Given the description of an element on the screen output the (x, y) to click on. 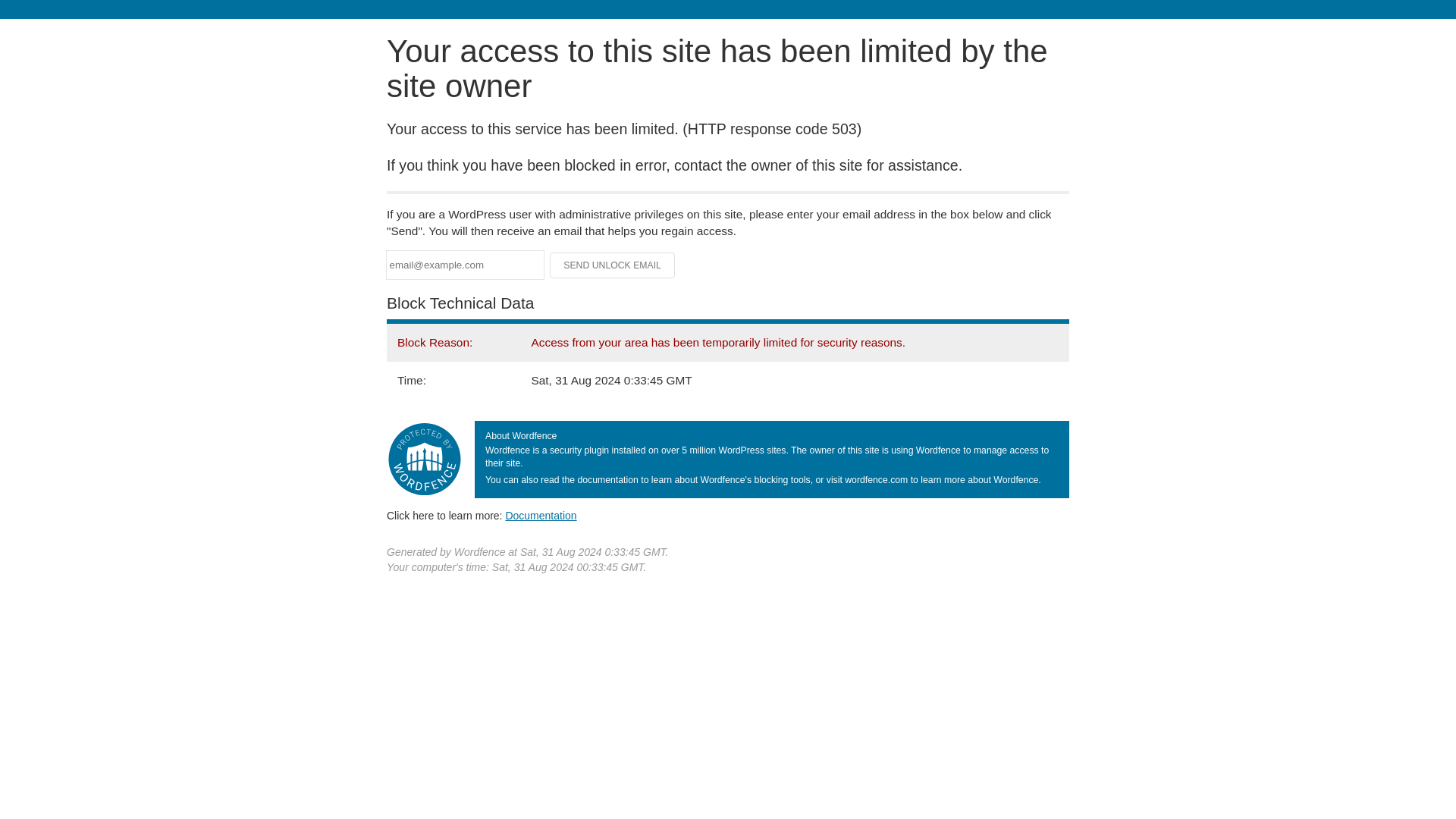
Send Unlock Email (612, 265)
Send Unlock Email (612, 265)
Documentation (540, 515)
